Given the description of an element on the screen output the (x, y) to click on. 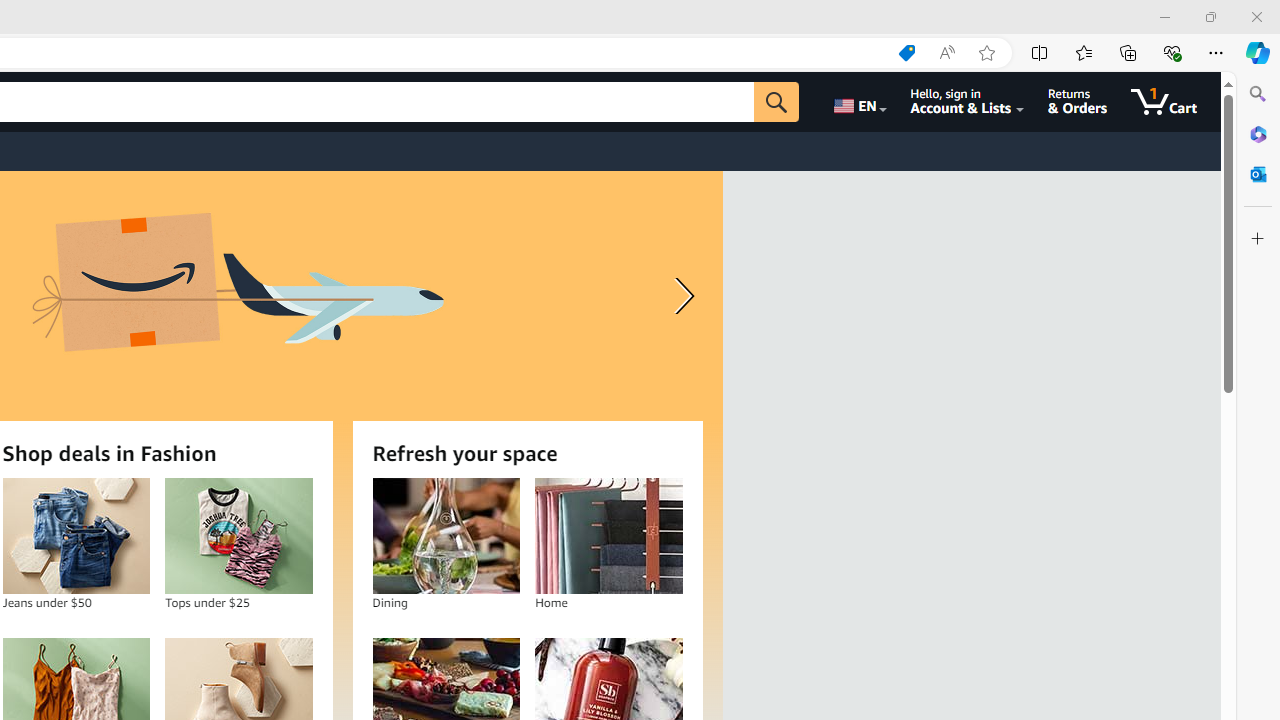
Toggle Panel (Ctrl+J) (1077, 16)
Returns & Orders (1077, 101)
Read aloud this page (Ctrl+Shift+U) (946, 53)
